Given the description of an element on the screen output the (x, y) to click on. 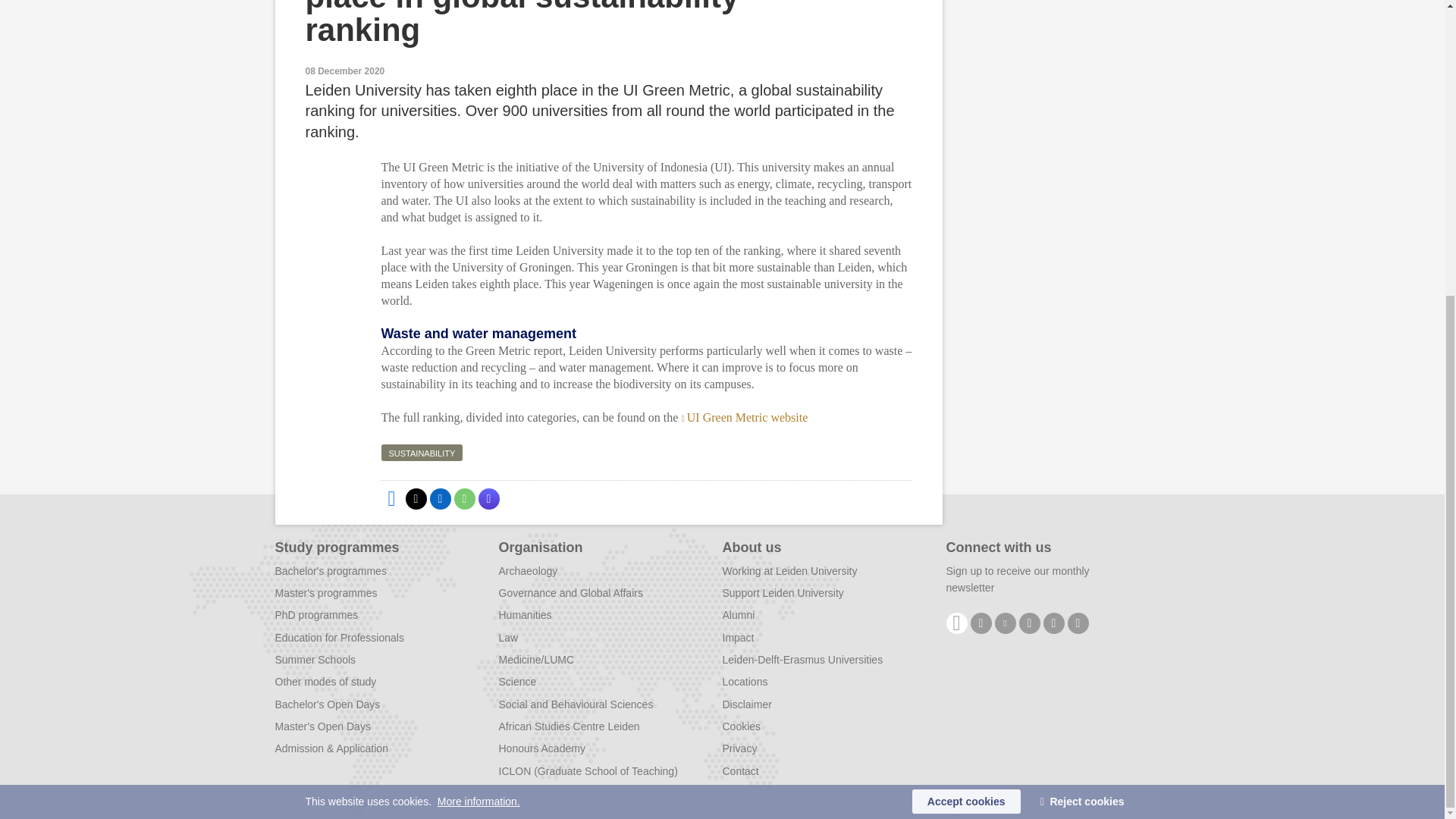
Share on X (415, 498)
Share by WhatsApp (463, 498)
Share by Mastodon (488, 498)
Share on Facebook (390, 498)
UI Green Metric website (744, 417)
Share on LinkedIn (439, 498)
SUSTAINABILITY (421, 452)
